Given the description of an element on the screen output the (x, y) to click on. 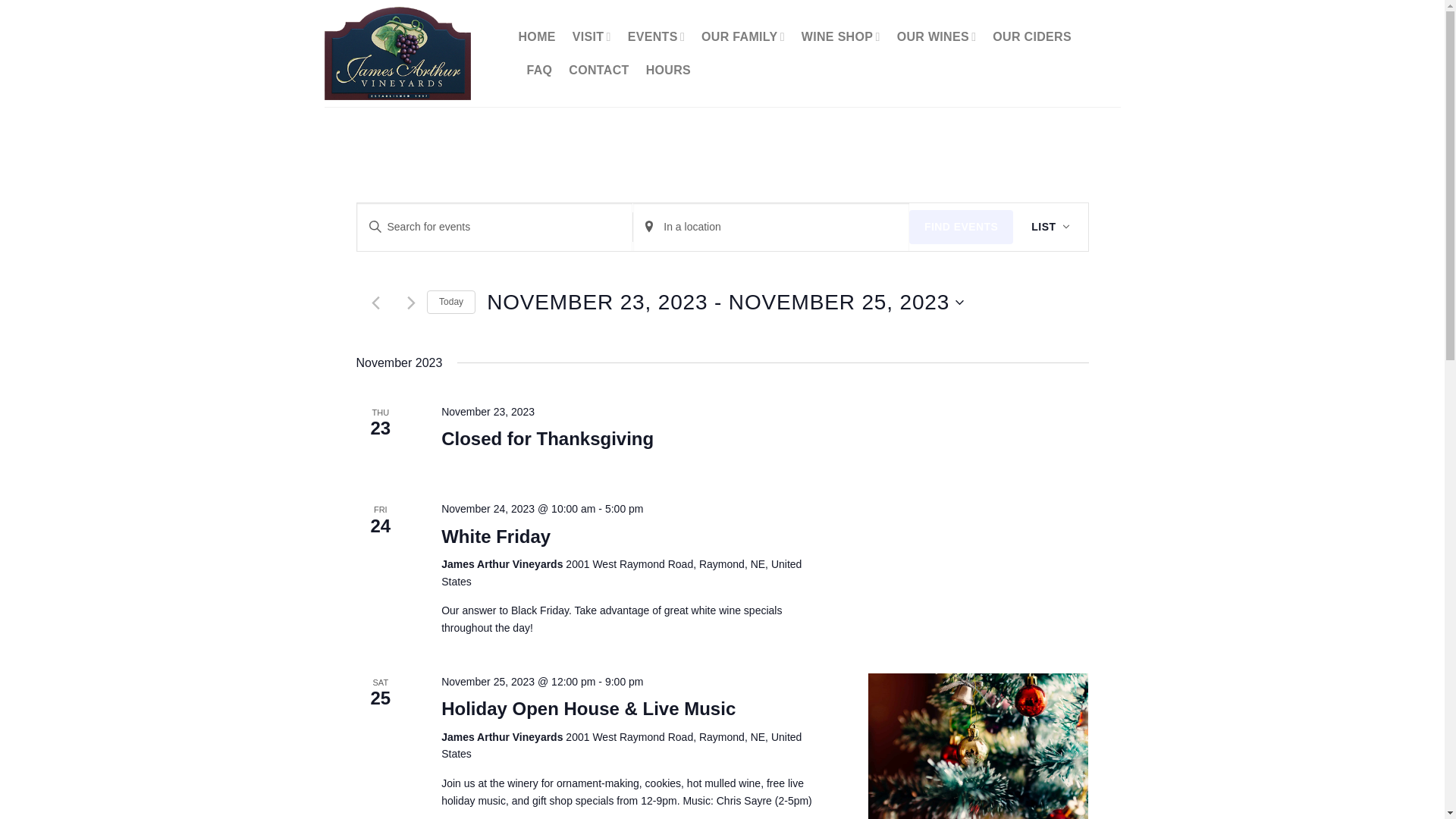
Closed for Thanksgiving (547, 438)
White Friday (495, 536)
EVENTS (655, 36)
James Arthur Vineyards - Nebraska's Largest Winery (410, 53)
Today (451, 301)
HOURS (668, 69)
Closed for Thanksgiving (547, 438)
WINE SHOP (841, 36)
OUR FAMILY (742, 36)
OUR CIDERS (1031, 36)
